Given the description of an element on the screen output the (x, y) to click on. 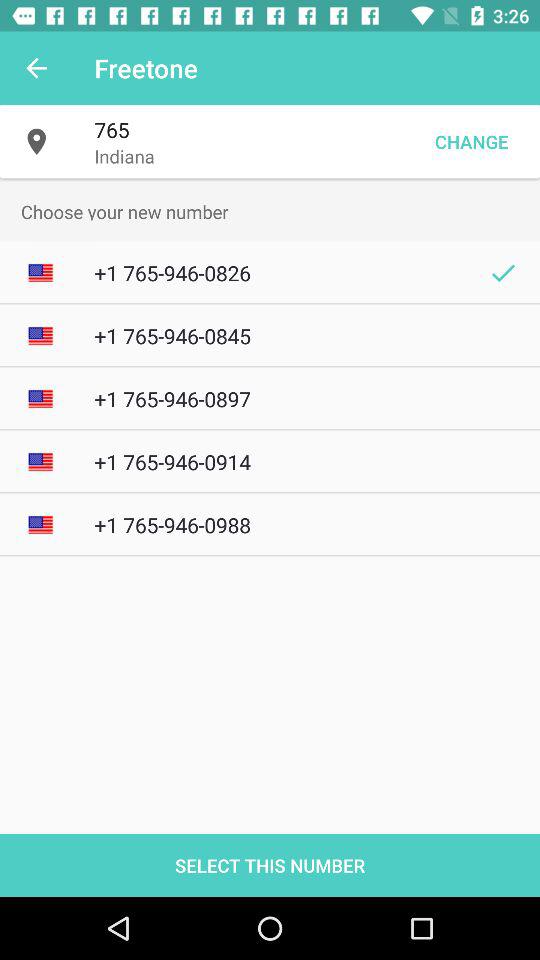
tap the item next to the indiana (471, 141)
